Given the description of an element on the screen output the (x, y) to click on. 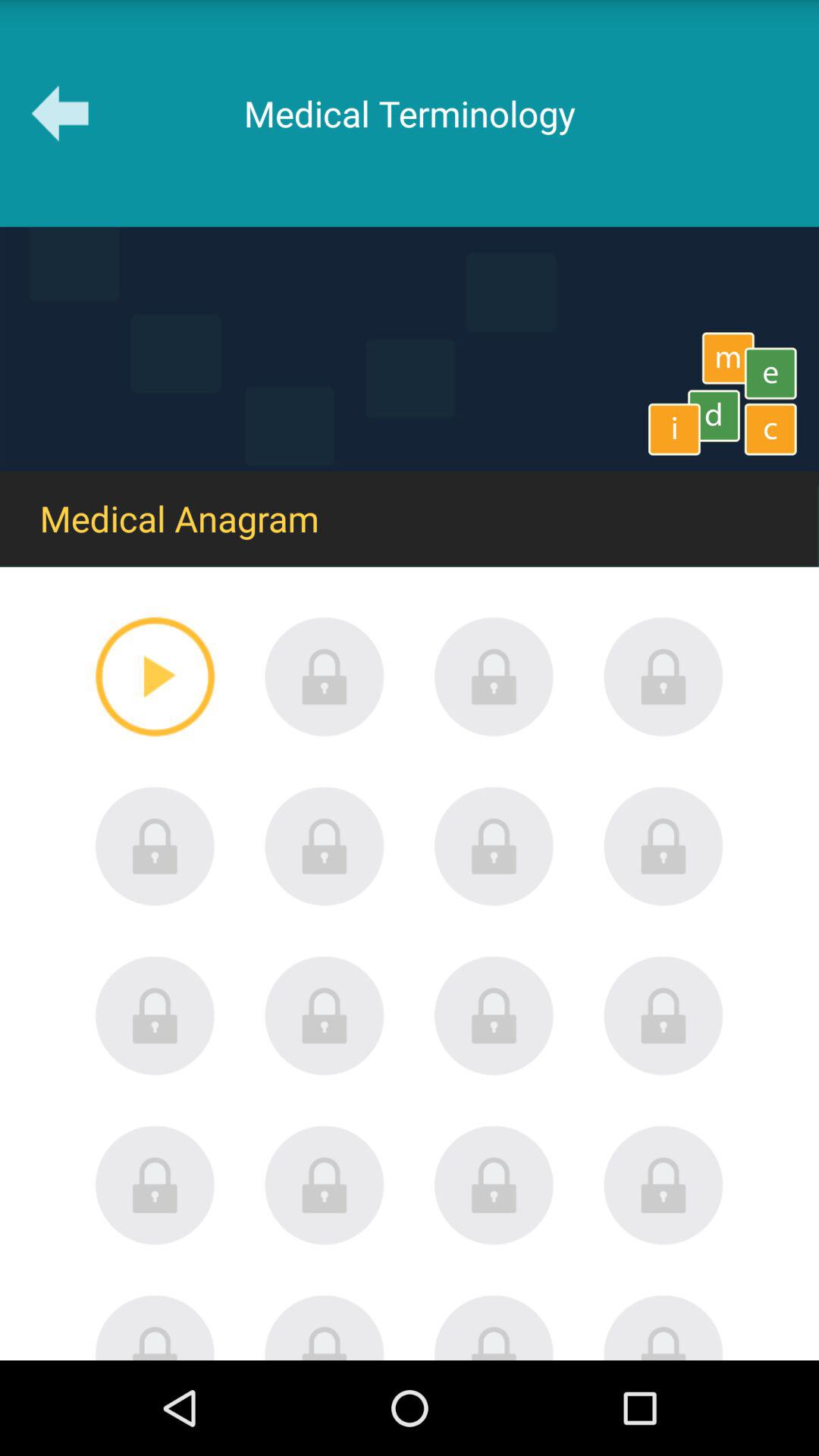
padlock blocked (324, 1184)
